Given the description of an element on the screen output the (x, y) to click on. 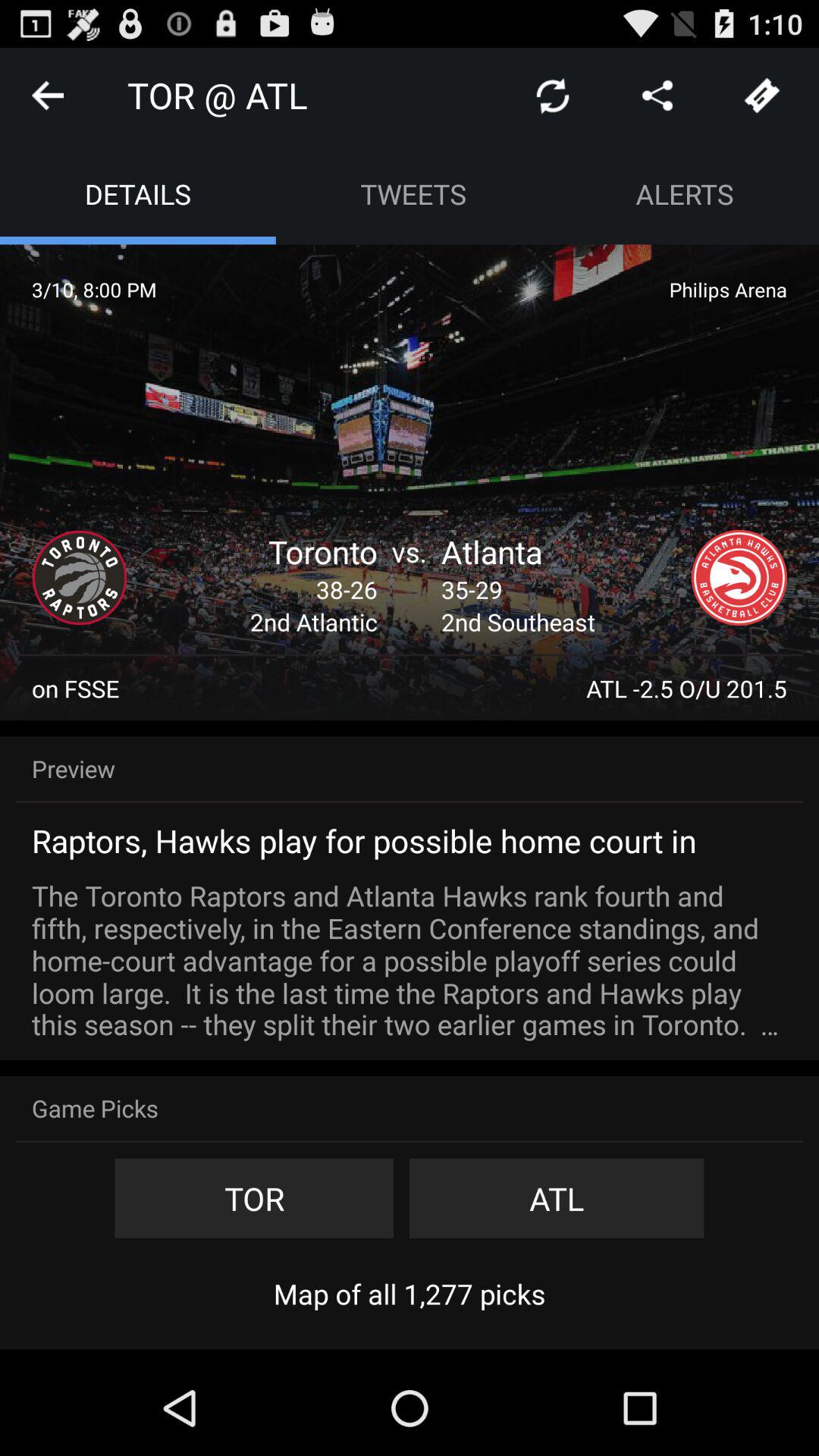
launch the icon above the alerts app (657, 95)
